Given the description of an element on the screen output the (x, y) to click on. 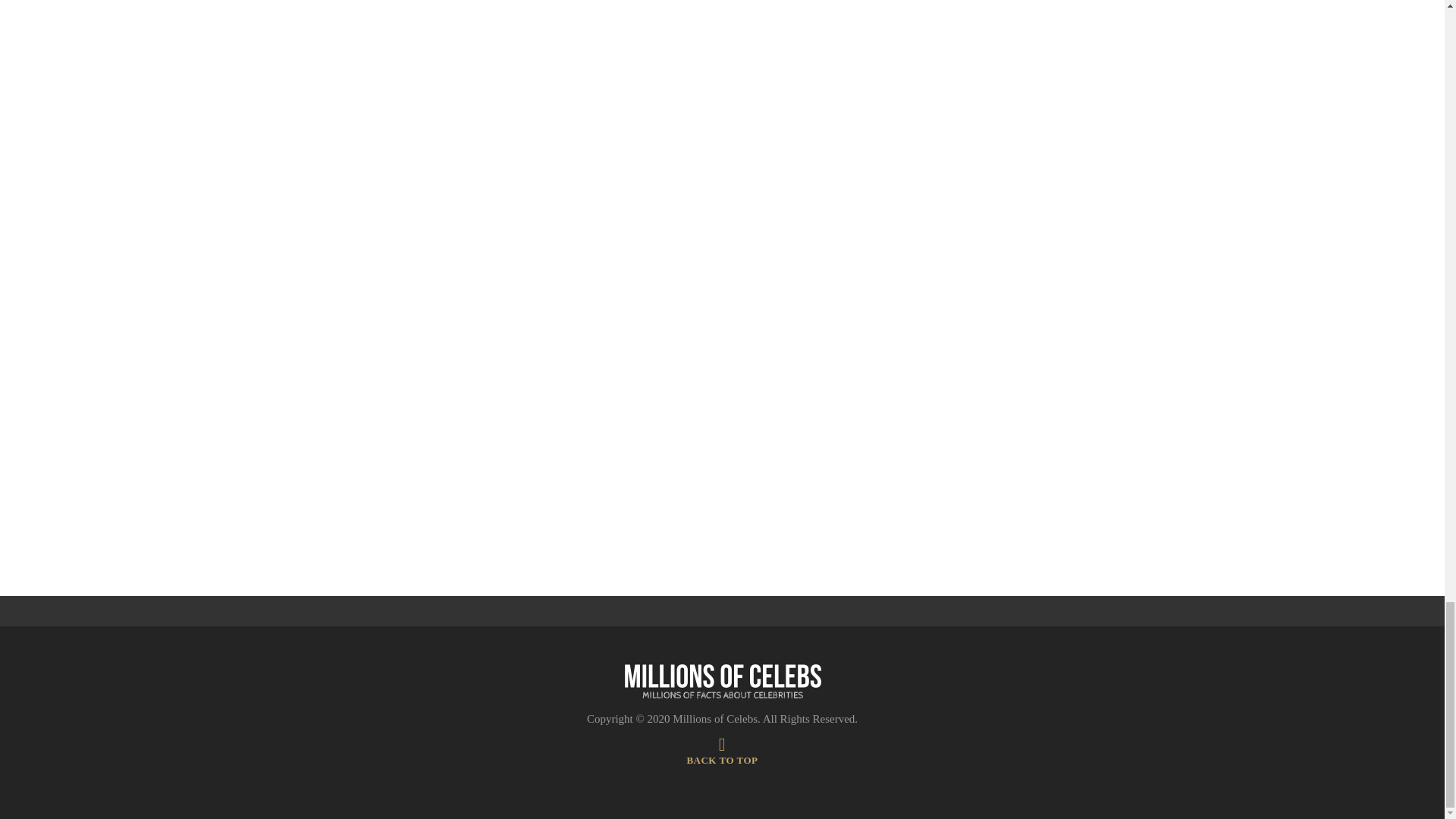
Millions Of Celebs (722, 682)
BACK TO TOP (721, 753)
